Given the description of an element on the screen output the (x, y) to click on. 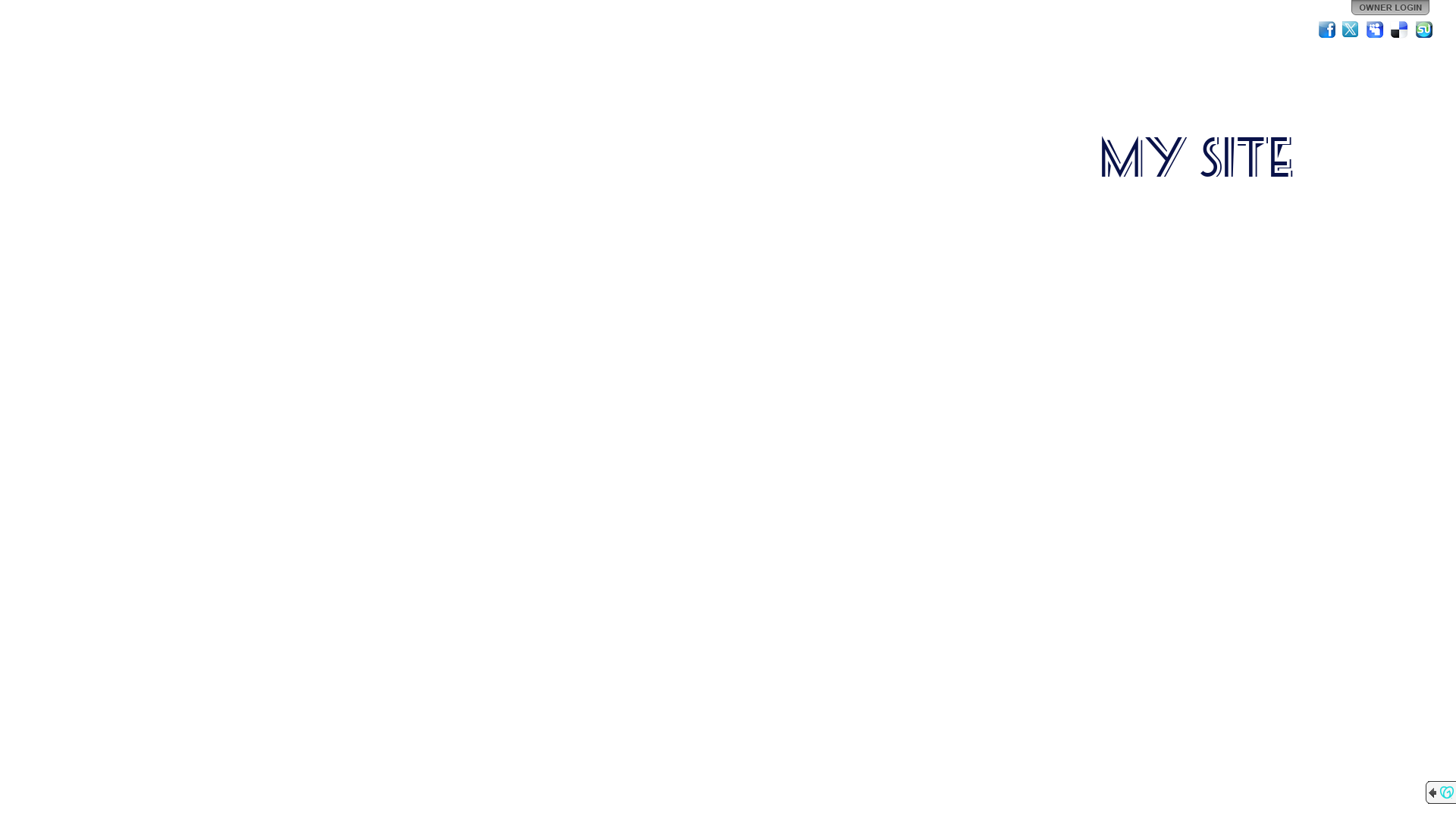
StumbleUpon Element type: text (1423, 29)
Facebook Element type: text (1326, 29)
MySpace Element type: text (1375, 29)
Twitter Element type: text (1350, 29)
Del.icio.us Element type: text (1399, 29)
